Given the description of an element on the screen output the (x, y) to click on. 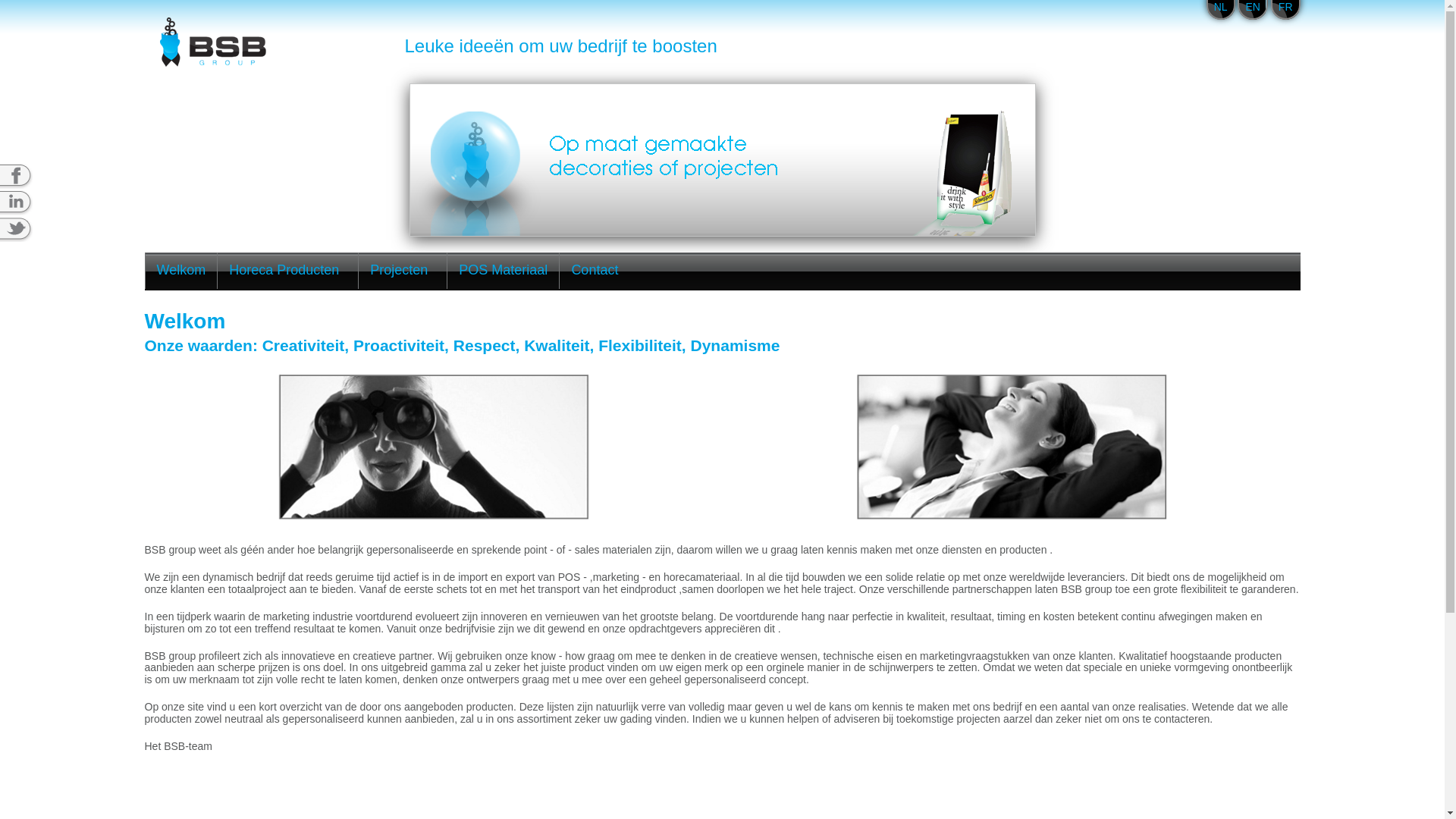
Twitter Element type: text (28, 228)
LinkedIn Element type: text (28, 202)
Projecten Element type: text (402, 270)
Home Element type: hover (213, 41)
POS Materiaal Element type: text (503, 270)
Facebook Element type: text (28, 175)
Contact Element type: text (594, 270)
Horeca Producten Element type: text (287, 270)
Welkom Element type: text (181, 270)
Jump to Navigation Element type: text (722, 2)
